Given the description of an element on the screen output the (x, y) to click on. 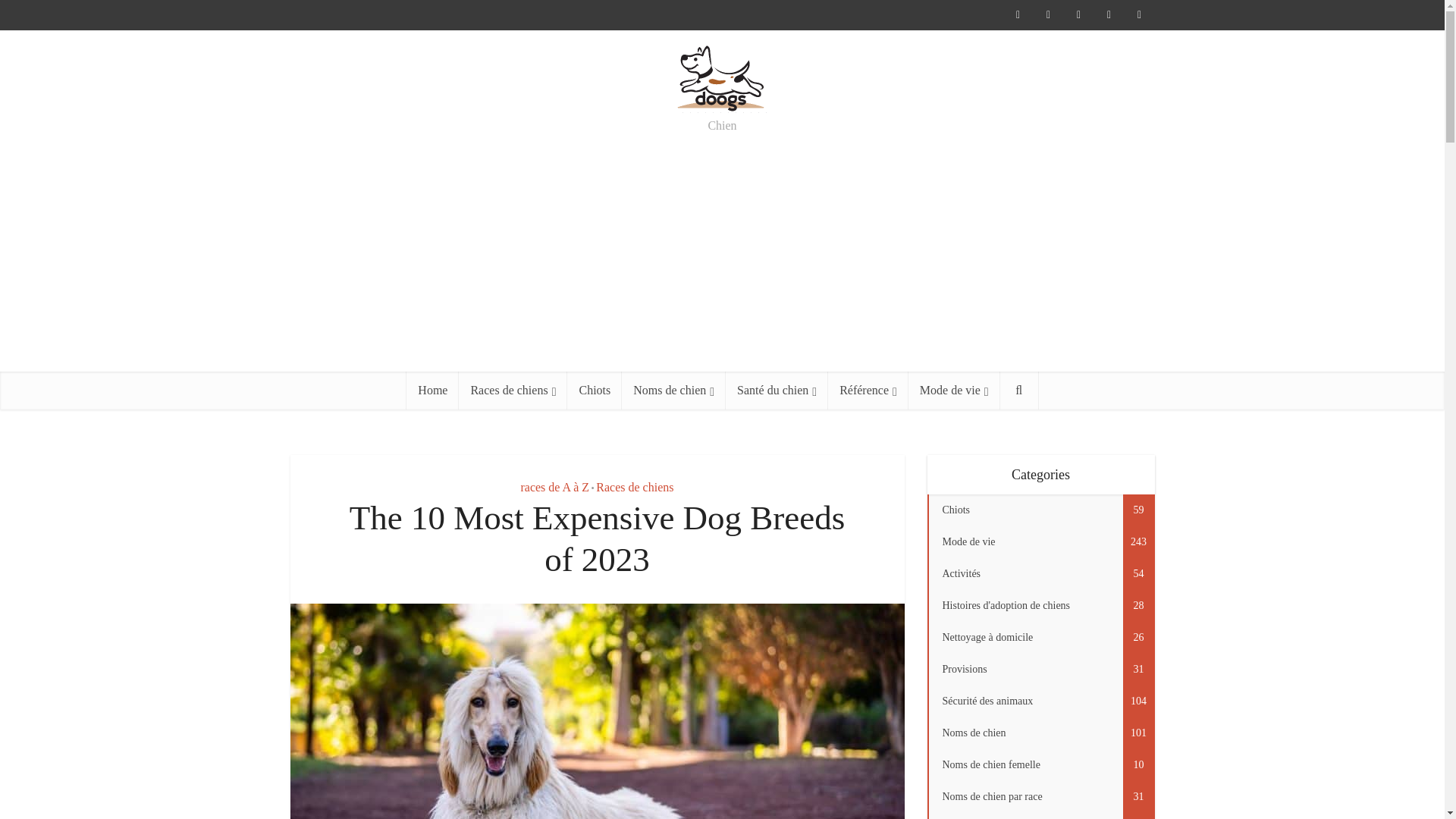
Chiots (594, 390)
Home (432, 390)
Noms de chien (673, 390)
Races de chiens (512, 390)
